Given the description of an element on the screen output the (x, y) to click on. 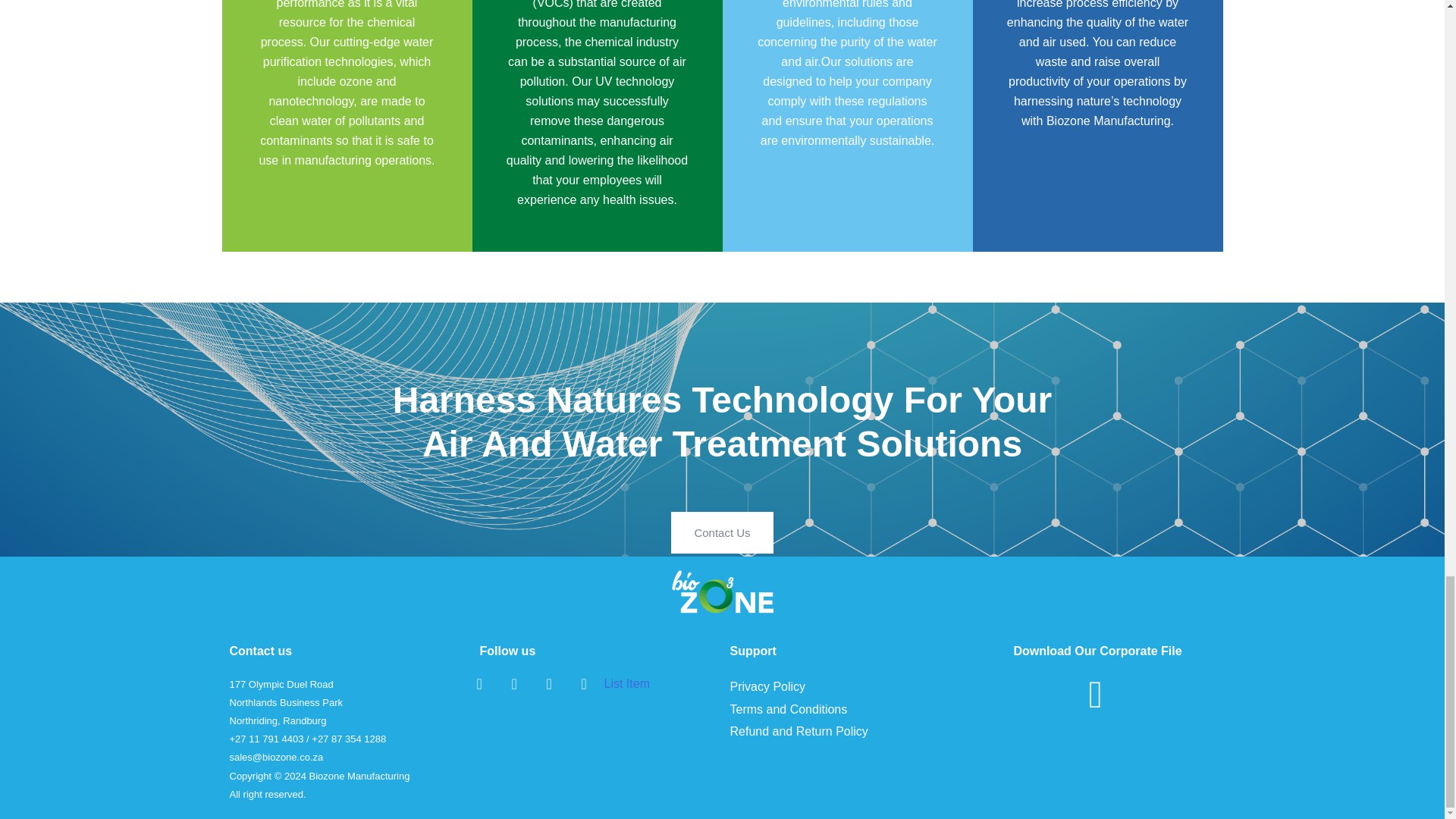
bioZone white logo transparent 1 (721, 591)
